Given the description of an element on the screen output the (x, y) to click on. 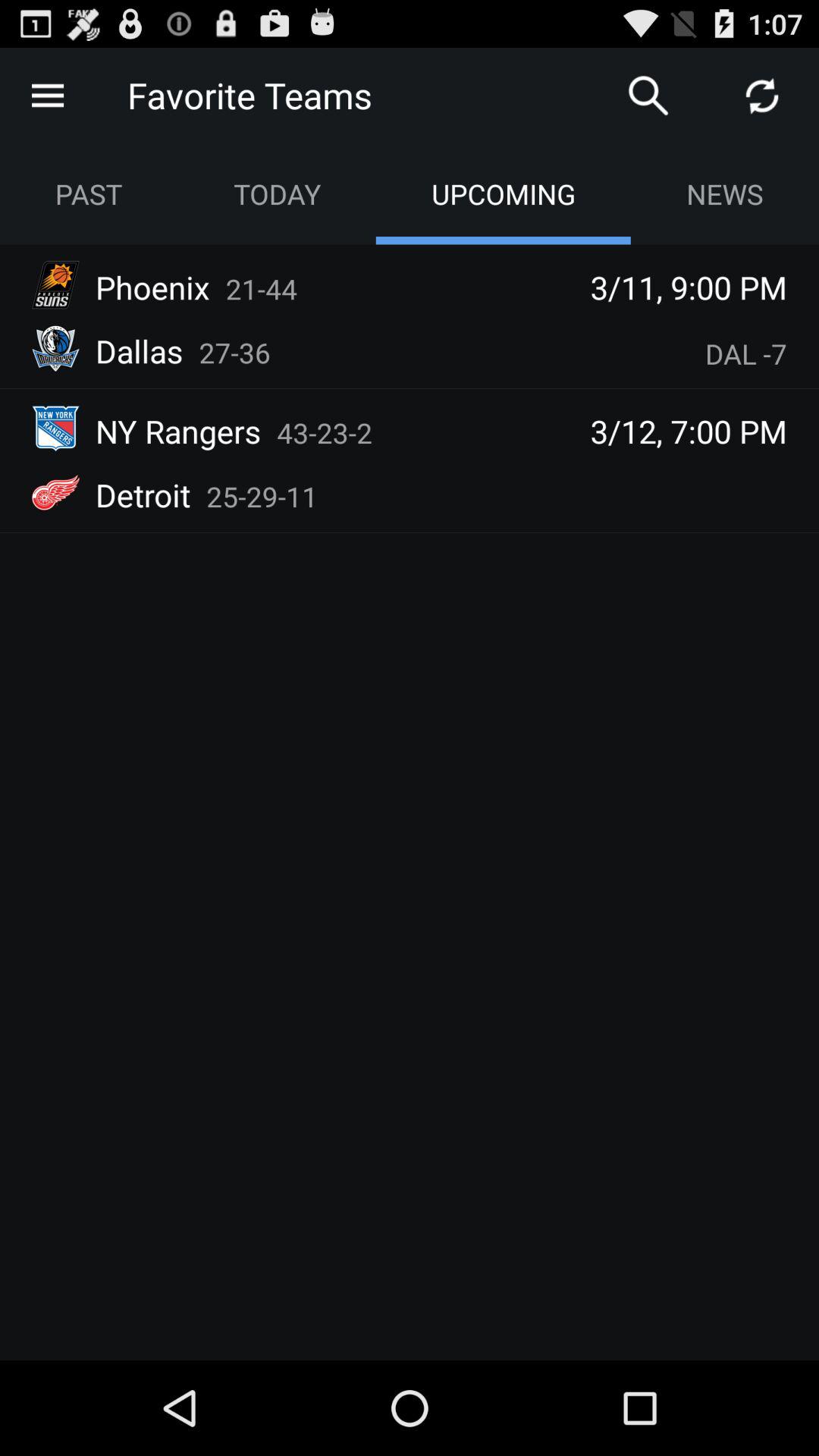
reload page (762, 95)
